Given the description of an element on the screen output the (x, y) to click on. 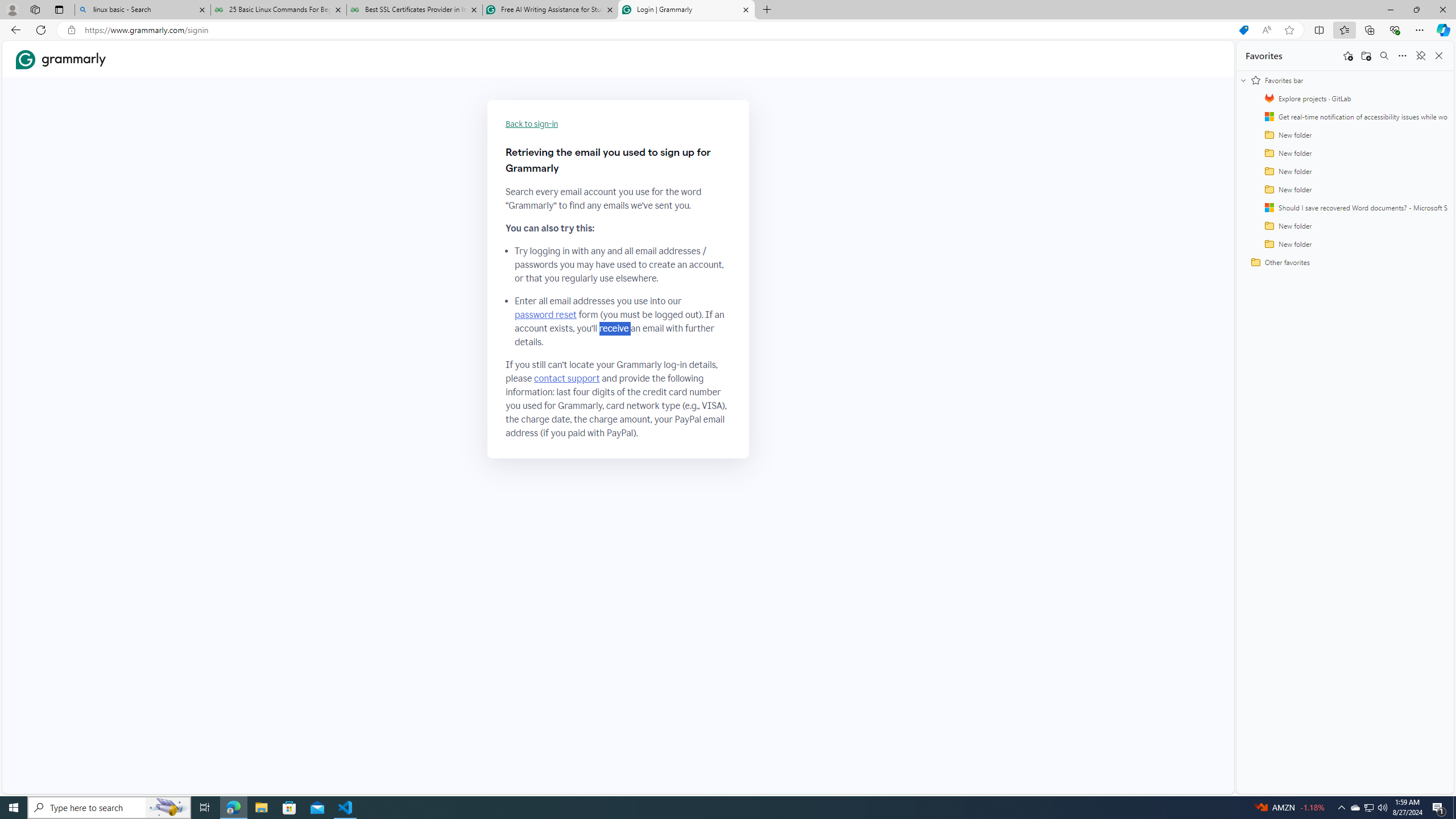
Add this page to favorites (1347, 55)
Free AI Writing Assistance for Students | Grammarly (550, 9)
25 Basic Linux Commands For Beginners - GeeksforGeeks (277, 9)
Shopping in Microsoft Edge (1243, 29)
Login | Grammarly (685, 9)
